Given the description of an element on the screen output the (x, y) to click on. 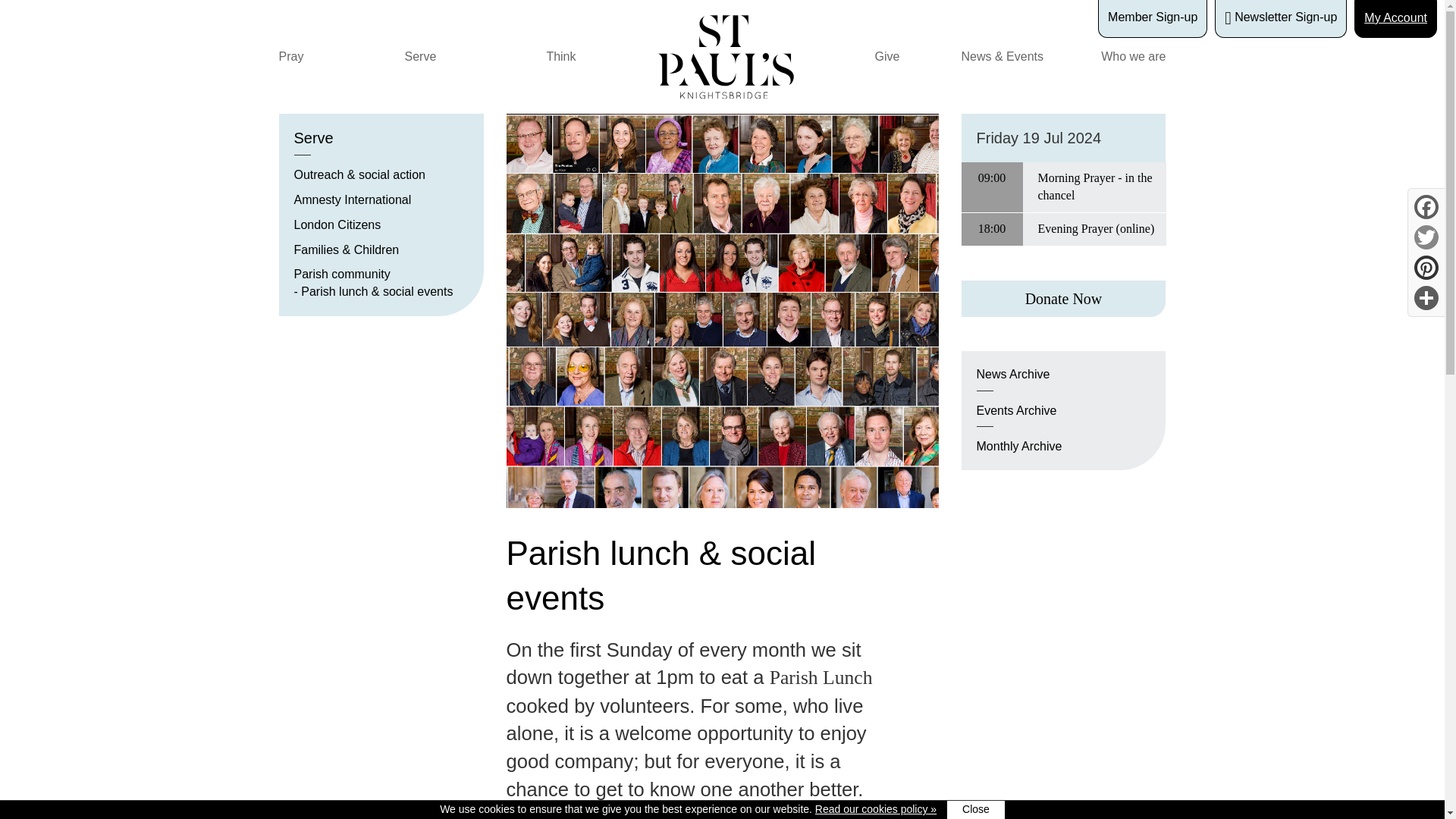
Pinterest (1425, 267)
Twitter (1425, 236)
Facebook (1425, 206)
